Given the description of an element on the screen output the (x, y) to click on. 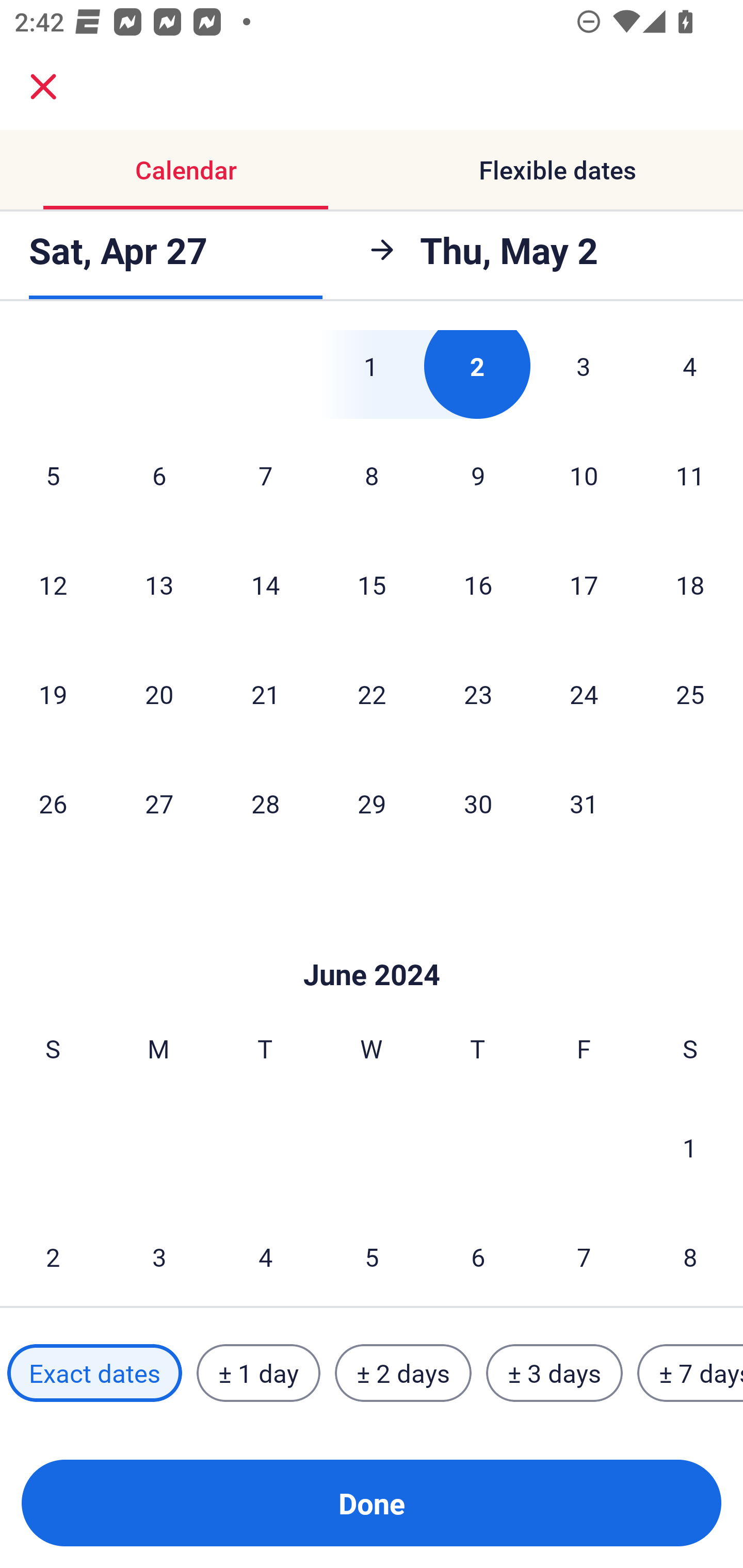
close. (43, 86)
Flexible dates (557, 170)
3 Friday, May 3, 2024 (583, 374)
4 Saturday, May 4, 2024 (689, 374)
5 Sunday, May 5, 2024 (53, 474)
6 Monday, May 6, 2024 (159, 474)
7 Tuesday, May 7, 2024 (265, 474)
8 Wednesday, May 8, 2024 (371, 474)
9 Thursday, May 9, 2024 (477, 474)
10 Friday, May 10, 2024 (584, 474)
11 Saturday, May 11, 2024 (690, 474)
12 Sunday, May 12, 2024 (53, 584)
13 Monday, May 13, 2024 (159, 584)
14 Tuesday, May 14, 2024 (265, 584)
15 Wednesday, May 15, 2024 (371, 584)
16 Thursday, May 16, 2024 (477, 584)
17 Friday, May 17, 2024 (584, 584)
18 Saturday, May 18, 2024 (690, 584)
19 Sunday, May 19, 2024 (53, 693)
20 Monday, May 20, 2024 (159, 693)
21 Tuesday, May 21, 2024 (265, 693)
22 Wednesday, May 22, 2024 (371, 693)
23 Thursday, May 23, 2024 (477, 693)
24 Friday, May 24, 2024 (584, 693)
25 Saturday, May 25, 2024 (690, 693)
26 Sunday, May 26, 2024 (53, 803)
27 Monday, May 27, 2024 (159, 803)
28 Tuesday, May 28, 2024 (265, 803)
29 Wednesday, May 29, 2024 (371, 803)
30 Thursday, May 30, 2024 (477, 803)
31 Friday, May 31, 2024 (584, 803)
Skip to Done (371, 943)
1 Saturday, June 1, 2024 (689, 1146)
2 Sunday, June 2, 2024 (53, 1255)
3 Monday, June 3, 2024 (159, 1255)
4 Tuesday, June 4, 2024 (265, 1255)
5 Wednesday, June 5, 2024 (371, 1255)
6 Thursday, June 6, 2024 (477, 1255)
7 Friday, June 7, 2024 (584, 1255)
8 Saturday, June 8, 2024 (690, 1255)
Exact dates (94, 1372)
± 1 day (258, 1372)
± 2 days (403, 1372)
± 3 days (553, 1372)
± 7 days (690, 1372)
Done (371, 1502)
